Given the description of an element on the screen output the (x, y) to click on. 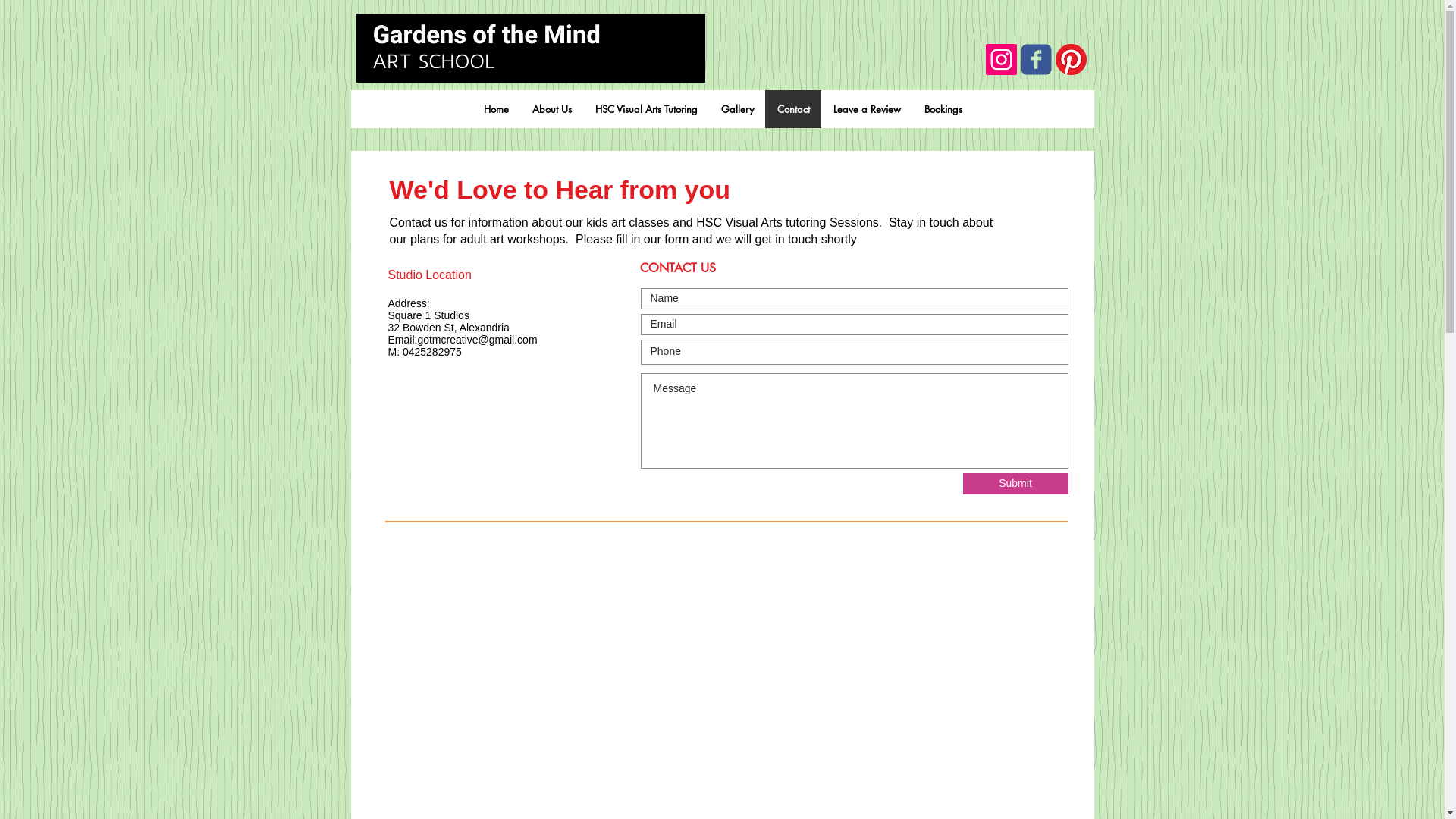
Leave a Review Element type: text (865, 109)
Home Element type: text (495, 109)
gotmcreative@gmail.com Element type: text (476, 339)
Submit Element type: text (1015, 483)
Gallery Element type: text (736, 109)
About Us Element type: text (551, 109)
Contact Element type: text (792, 109)
HSC Visual Arts Tutoring Element type: text (645, 109)
Bookings Element type: text (941, 109)
